Given the description of an element on the screen output the (x, y) to click on. 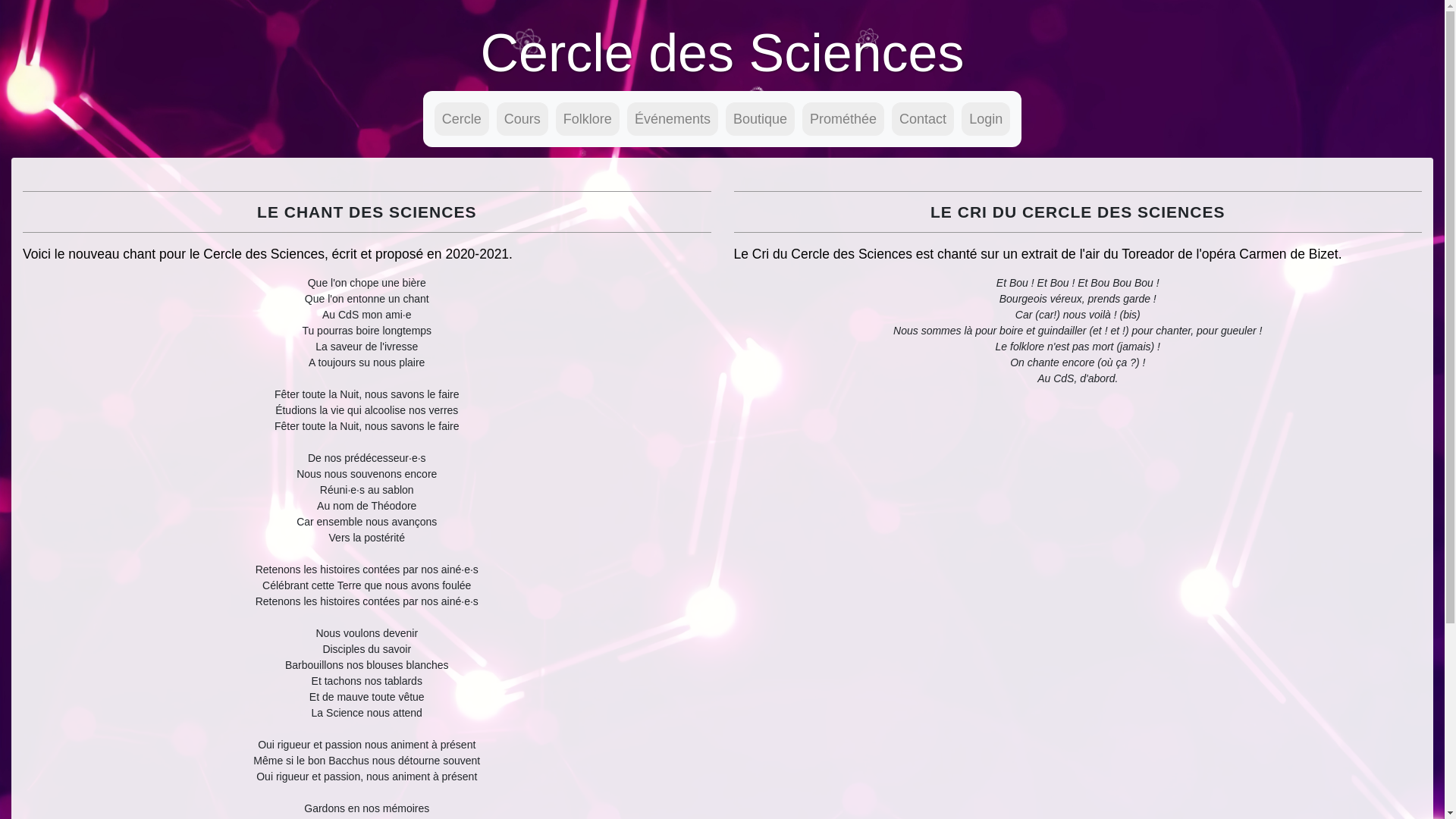
Cercle des Sciences Element type: text (721, 52)
Contact Element type: text (922, 118)
Cours Element type: text (522, 118)
Boutique Element type: text (759, 118)
Login Element type: text (985, 118)
Folklore Element type: text (587, 118)
Cercle Element type: text (461, 118)
